Given the description of an element on the screen output the (x, y) to click on. 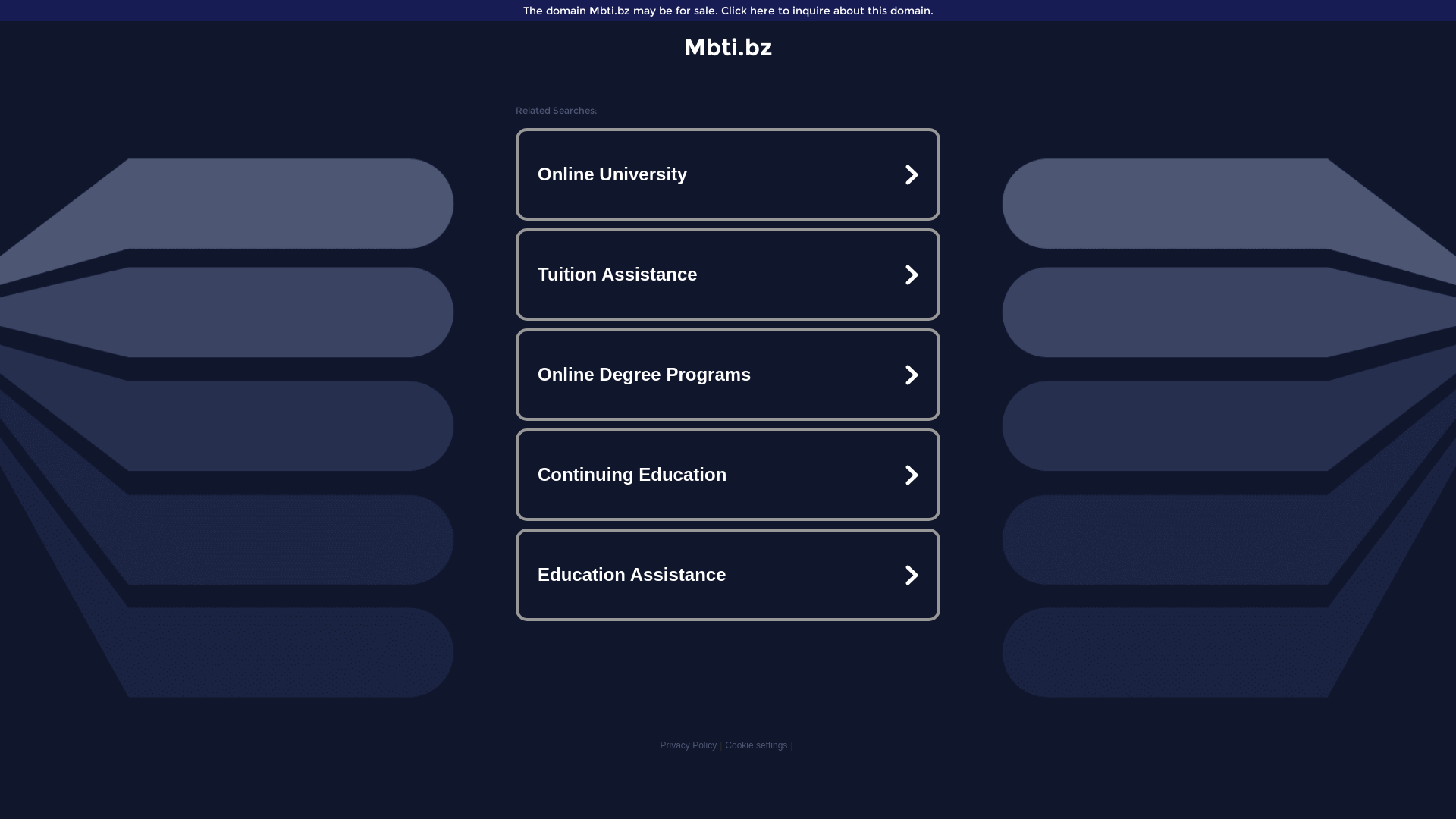
Mbti.bz Element type: text (728, 47)
Education Assistance Element type: text (727, 574)
Online University Element type: text (727, 174)
Continuing Education Element type: text (727, 474)
Privacy Policy Element type: text (687, 745)
Tuition Assistance Element type: text (727, 274)
Online Degree Programs Element type: text (727, 374)
Cookie settings Element type: text (755, 745)
